Given the description of an element on the screen output the (x, y) to click on. 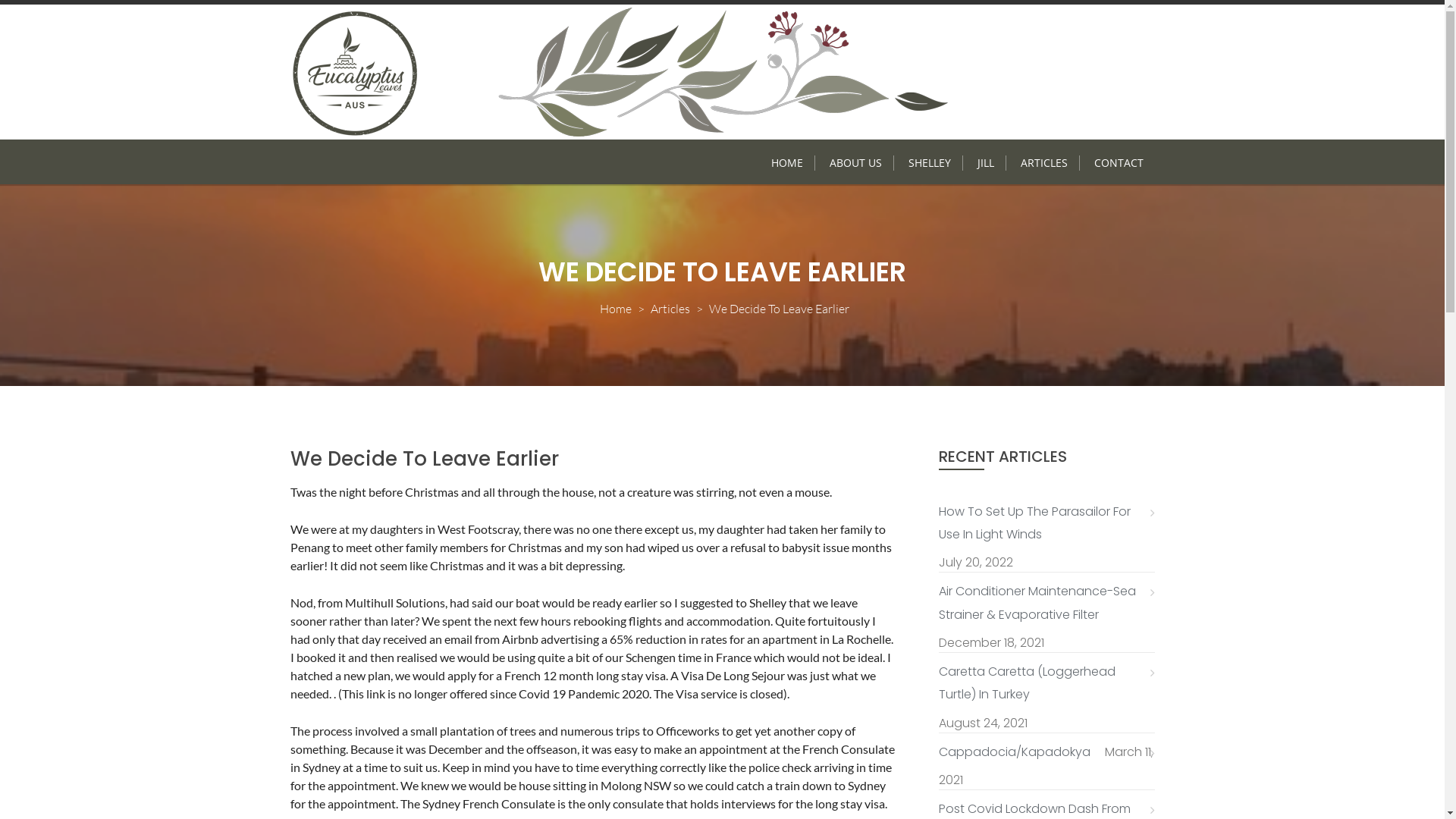
ARTICLES Element type: text (1043, 162)
ABOUT US Element type: text (855, 162)
Home Element type: text (615, 307)
JILL Element type: text (986, 162)
CONTACT Element type: text (1118, 162)
Articles Element type: text (669, 307)
HOME Element type: text (787, 162)
Cappadocia/Kapadokya Element type: text (1019, 752)
Caretta Caretta (Loggerhead Turtle) In Turkey Element type: text (1046, 683)
SHELLEY Element type: text (929, 162)
How To Set Up The Parasailor For Use In Light Winds Element type: text (1046, 523)
